Given the description of an element on the screen output the (x, y) to click on. 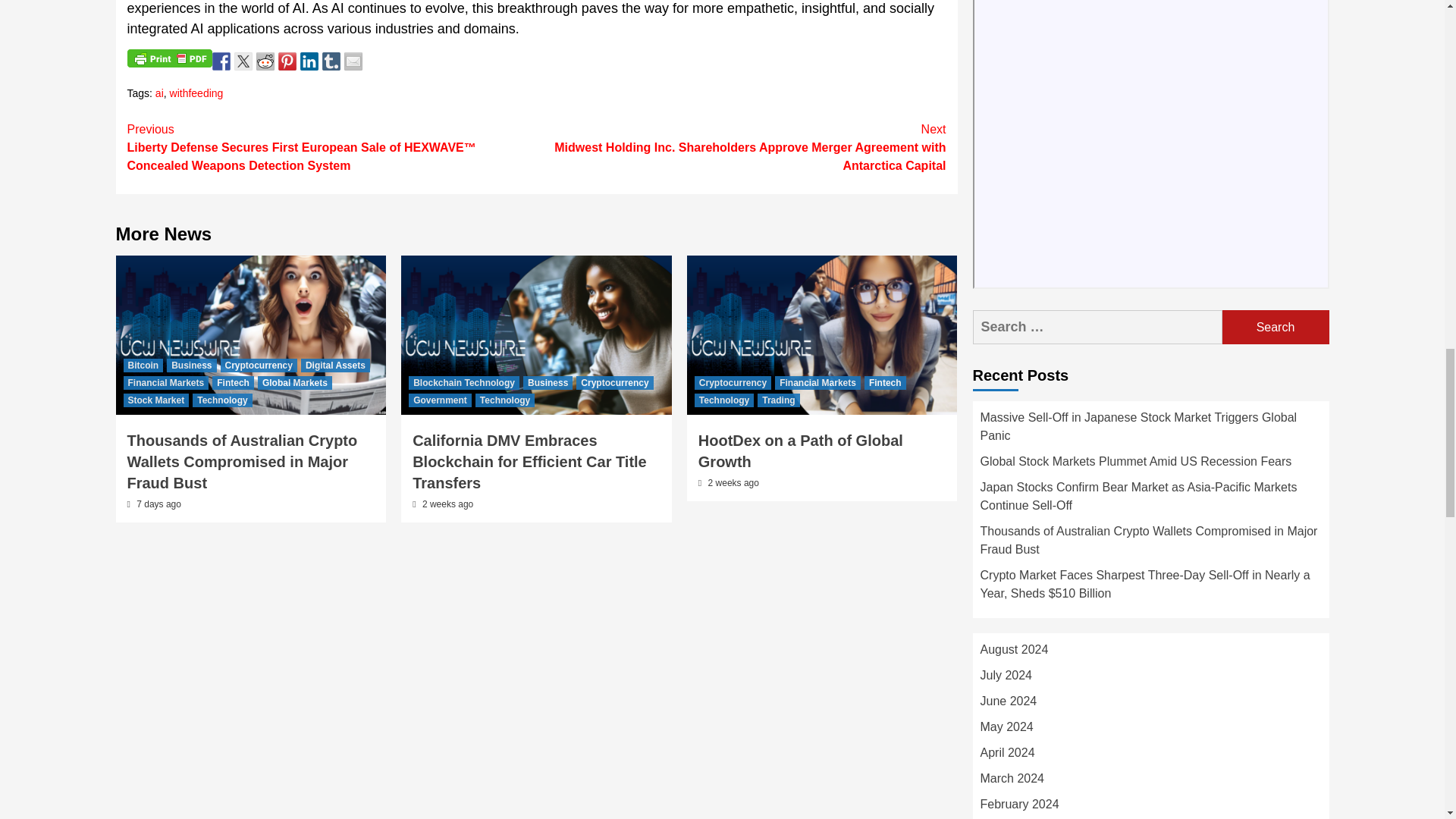
Bitcoin (142, 365)
Business (191, 365)
Search (1276, 326)
Search (1276, 326)
Cryptocurrency (259, 365)
Digital Assets (335, 365)
withfeeding (197, 92)
